Given the description of an element on the screen output the (x, y) to click on. 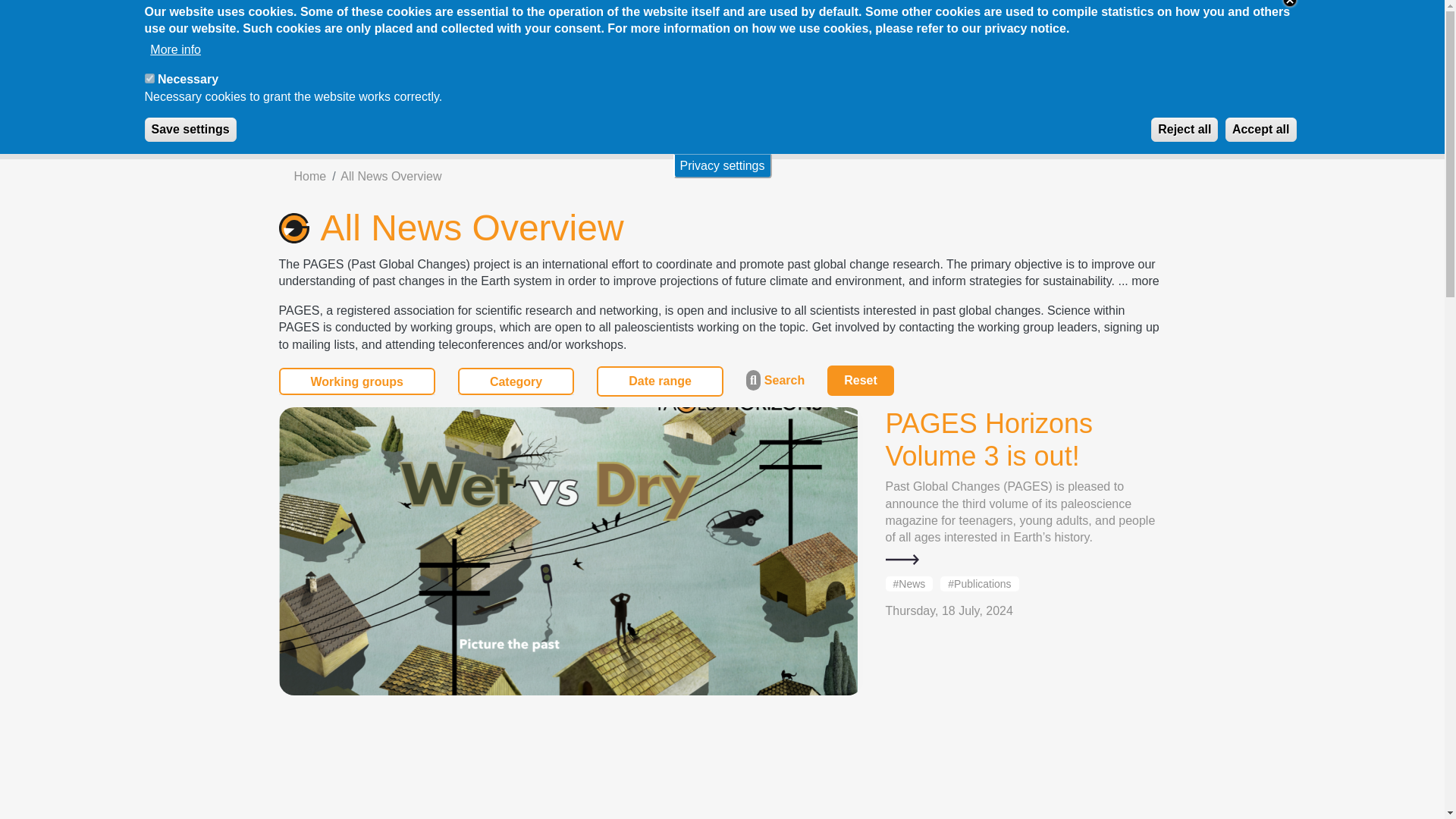
Apply for support (414, 26)
About (448, 79)
Withdraw consent (1334, 121)
Home (721, 99)
Jobs (691, 26)
Join Pages (1046, 26)
Be involved (603, 26)
Skip to main content (721, 1)
Accept all (1261, 129)
More info (174, 49)
tech (149, 78)
Contact (868, 26)
Search (953, 26)
Save settings (189, 129)
Search (953, 26)
